Given the description of an element on the screen output the (x, y) to click on. 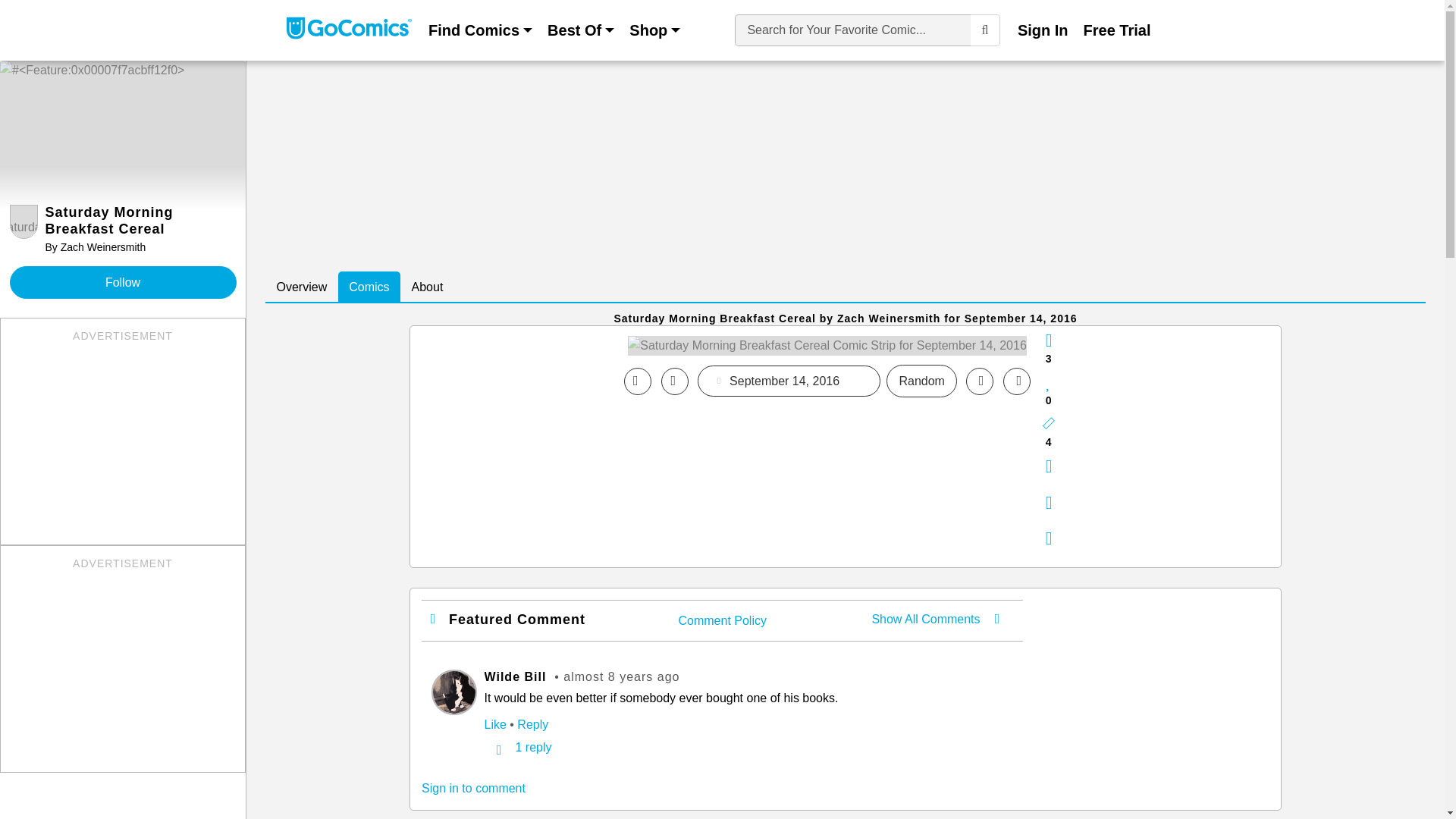
Comics (368, 287)
About (427, 287)
Random (921, 380)
Saturday Morning Breakfast Cereal (826, 344)
Best Of (580, 30)
GoComics Home (121, 230)
Find Comics (349, 29)
Sign In (480, 30)
Free Trial (1042, 30)
Shop (1116, 30)
Overview (654, 30)
View Wilde Bill's Profile (300, 287)
Follow (453, 691)
